Given the description of an element on the screen output the (x, y) to click on. 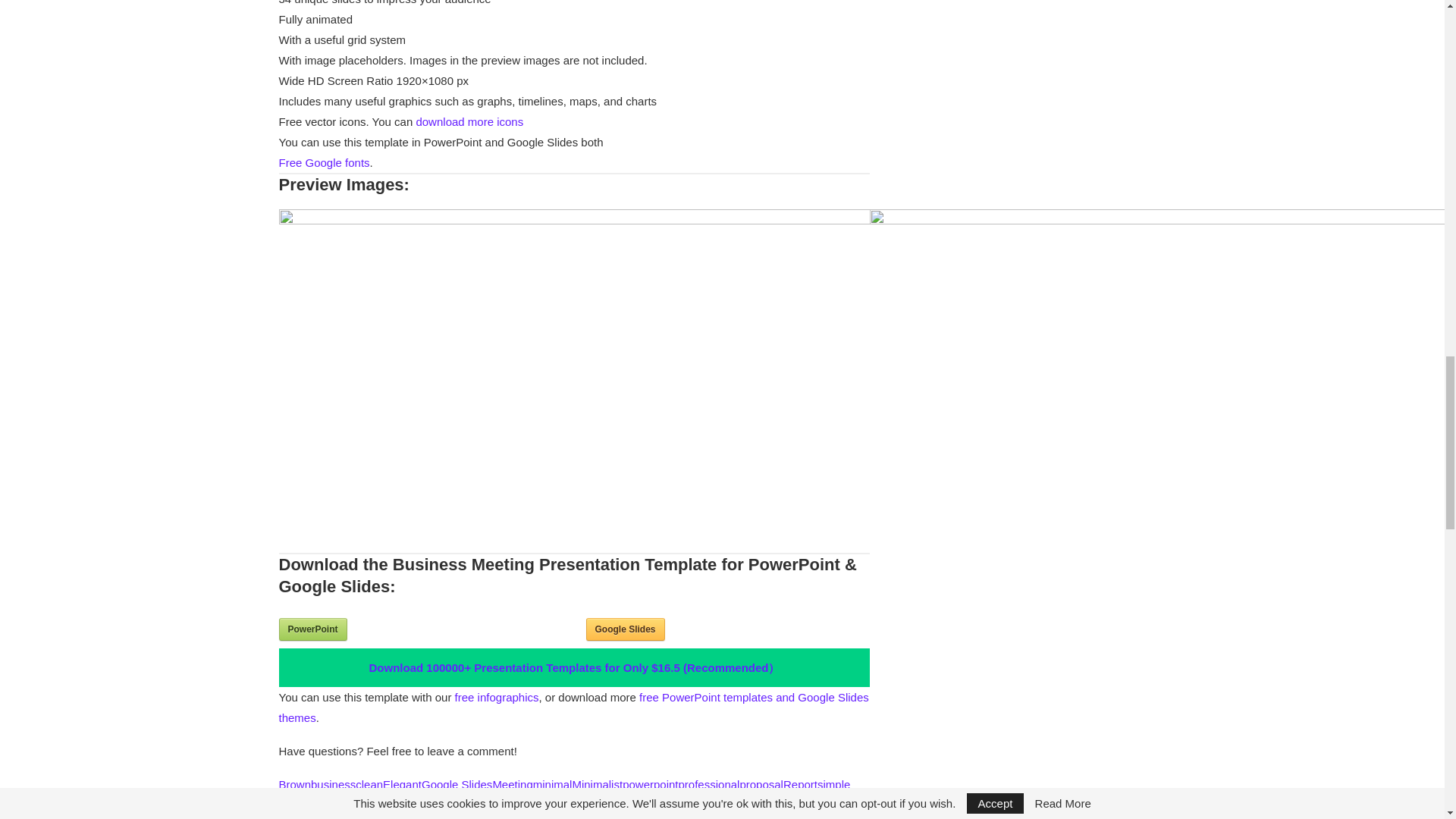
Business Meeting Presentation Template for PowerPoint (313, 629)
Business Meeting Presentation Template for Google Slides (624, 629)
